Given the description of an element on the screen output the (x, y) to click on. 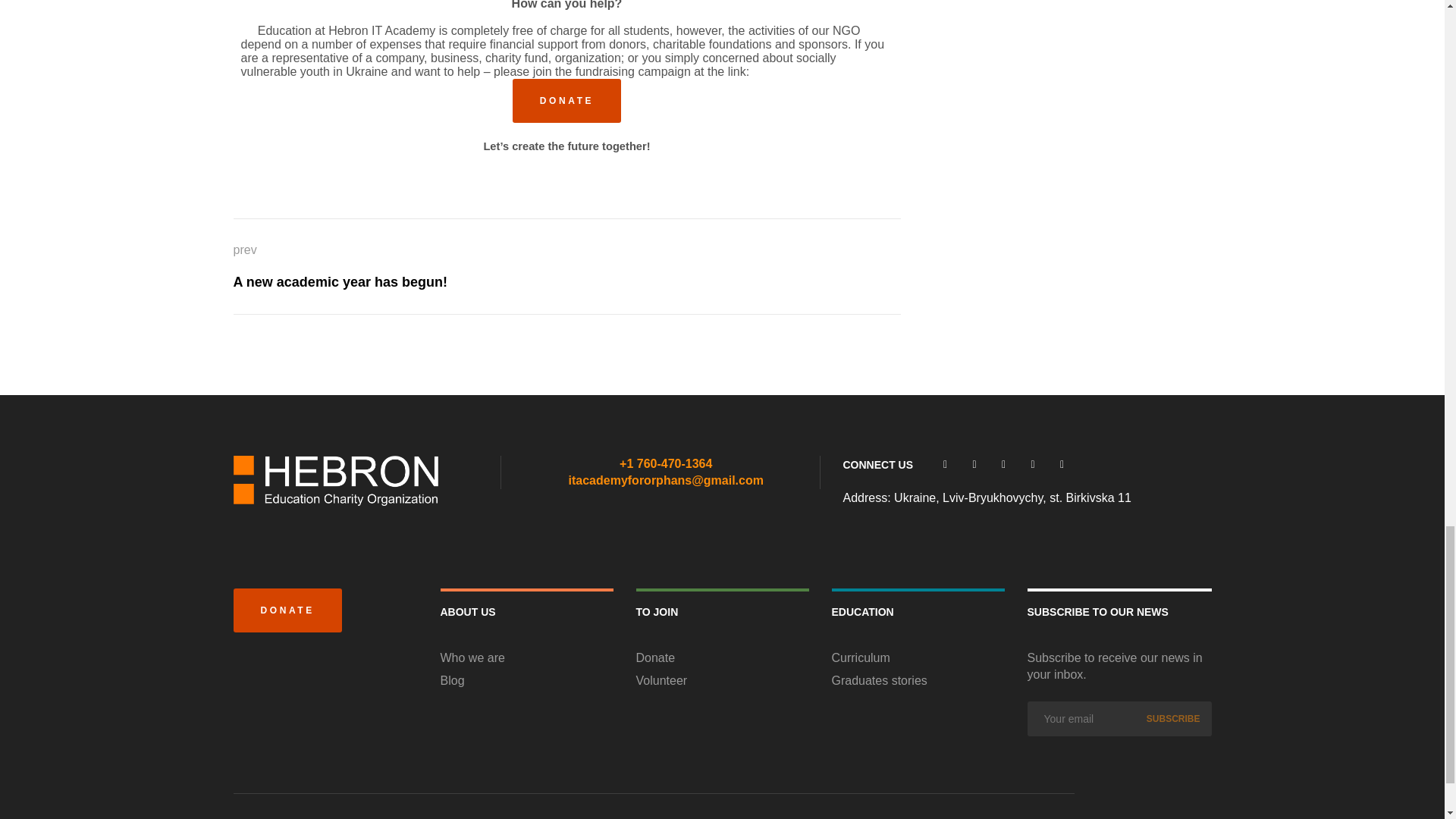
Graduates stories (917, 680)
Curriculum (339, 266)
subscribe (917, 658)
DONATE (1173, 718)
DONATE (566, 100)
Who we are (287, 610)
Blog (525, 658)
subscribe (525, 680)
Volunteer (1173, 718)
